Given the description of an element on the screen output the (x, y) to click on. 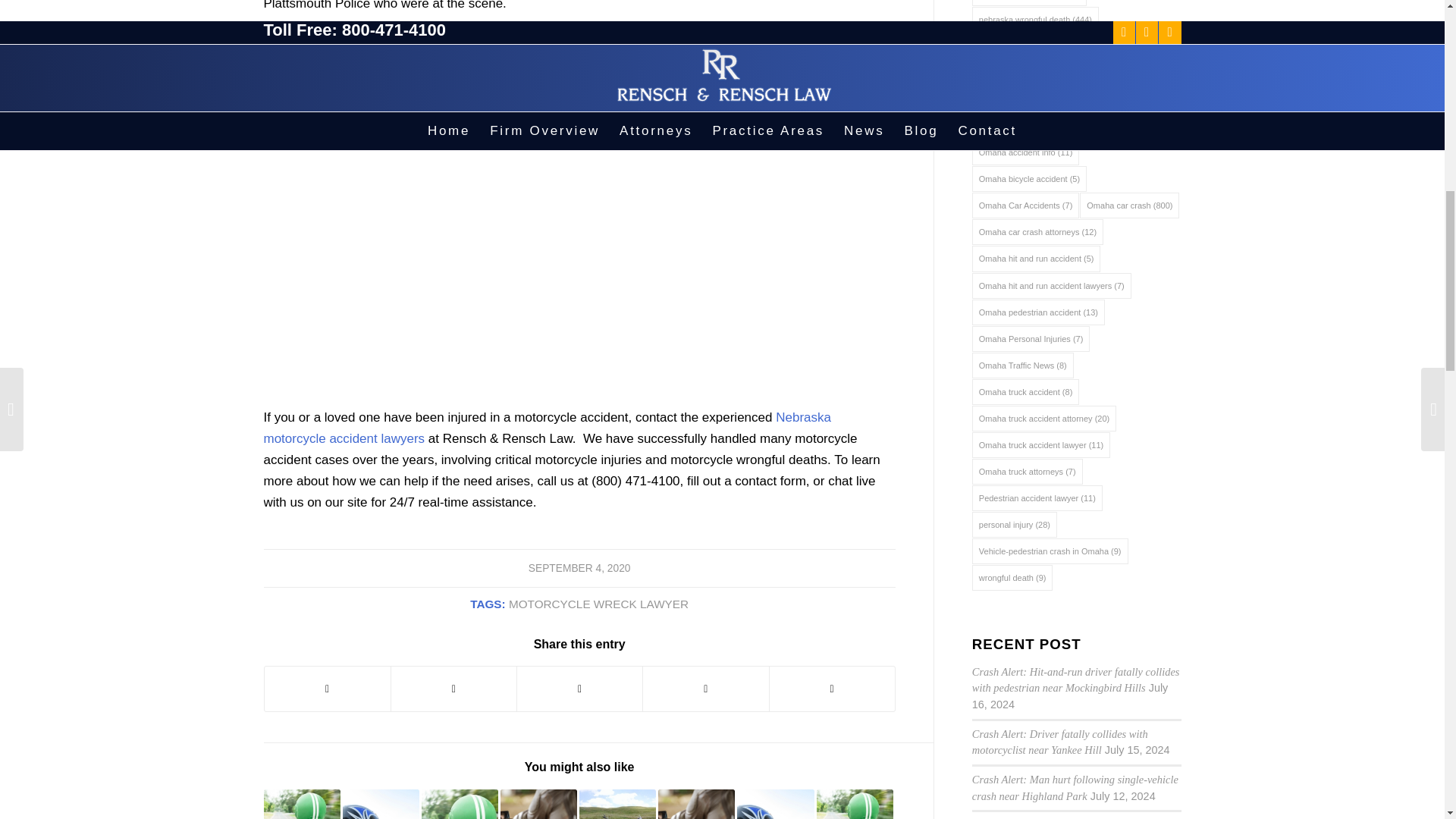
Crash alert: 2 injured after motorcycle collides with deer (301, 804)
Crash alert: Fatal motorcycle accident (380, 804)
